Given the description of an element on the screen output the (x, y) to click on. 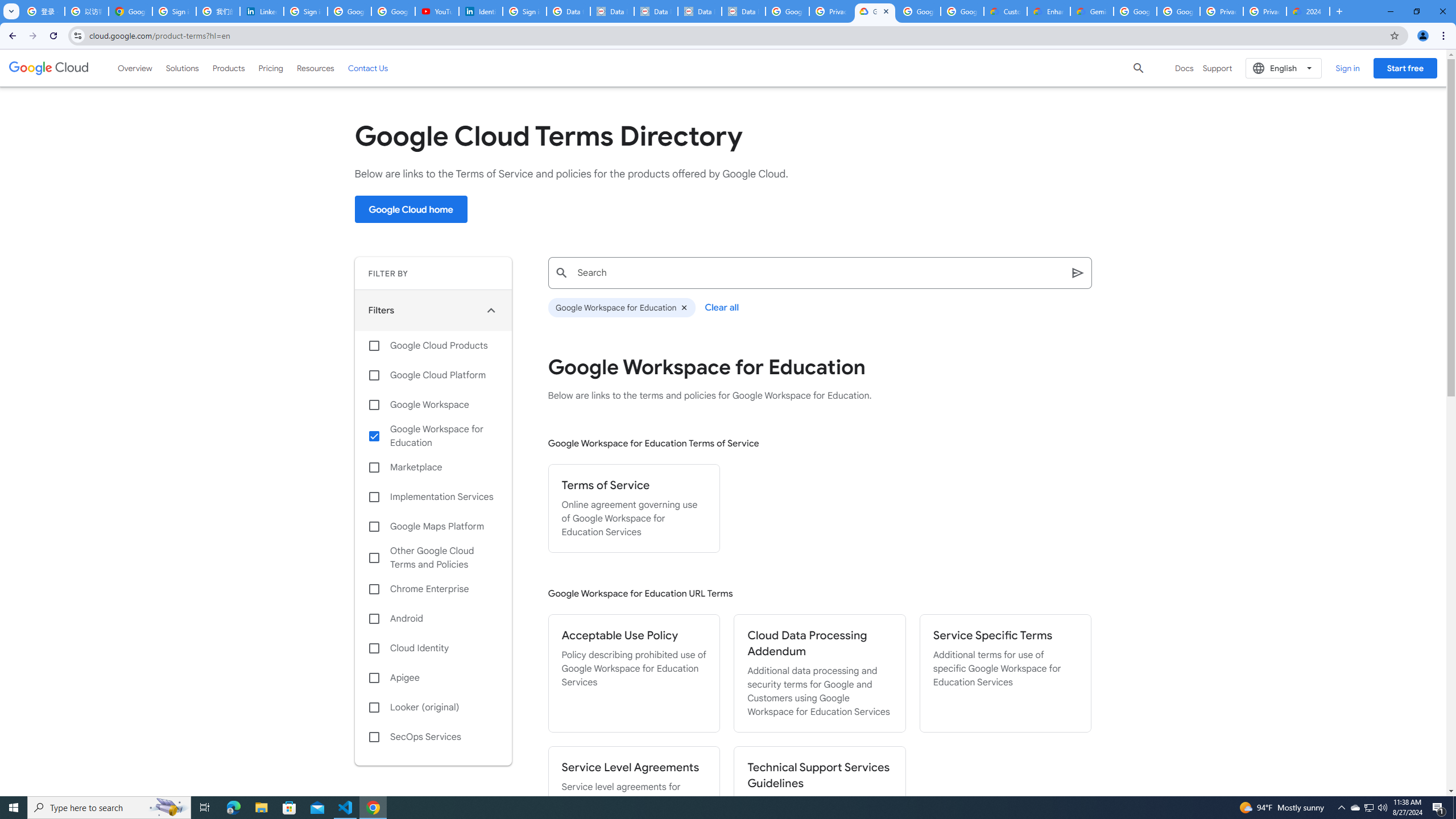
Sign in - Google Accounts (305, 11)
Sign in - Google Accounts (524, 11)
Support (1216, 67)
Docs (1183, 67)
Google Cloud (48, 67)
Google Cloud Products (432, 345)
Google Workspace for Education (432, 435)
Data Privacy Framework (655, 11)
Solutions (181, 67)
